Given the description of an element on the screen output the (x, y) to click on. 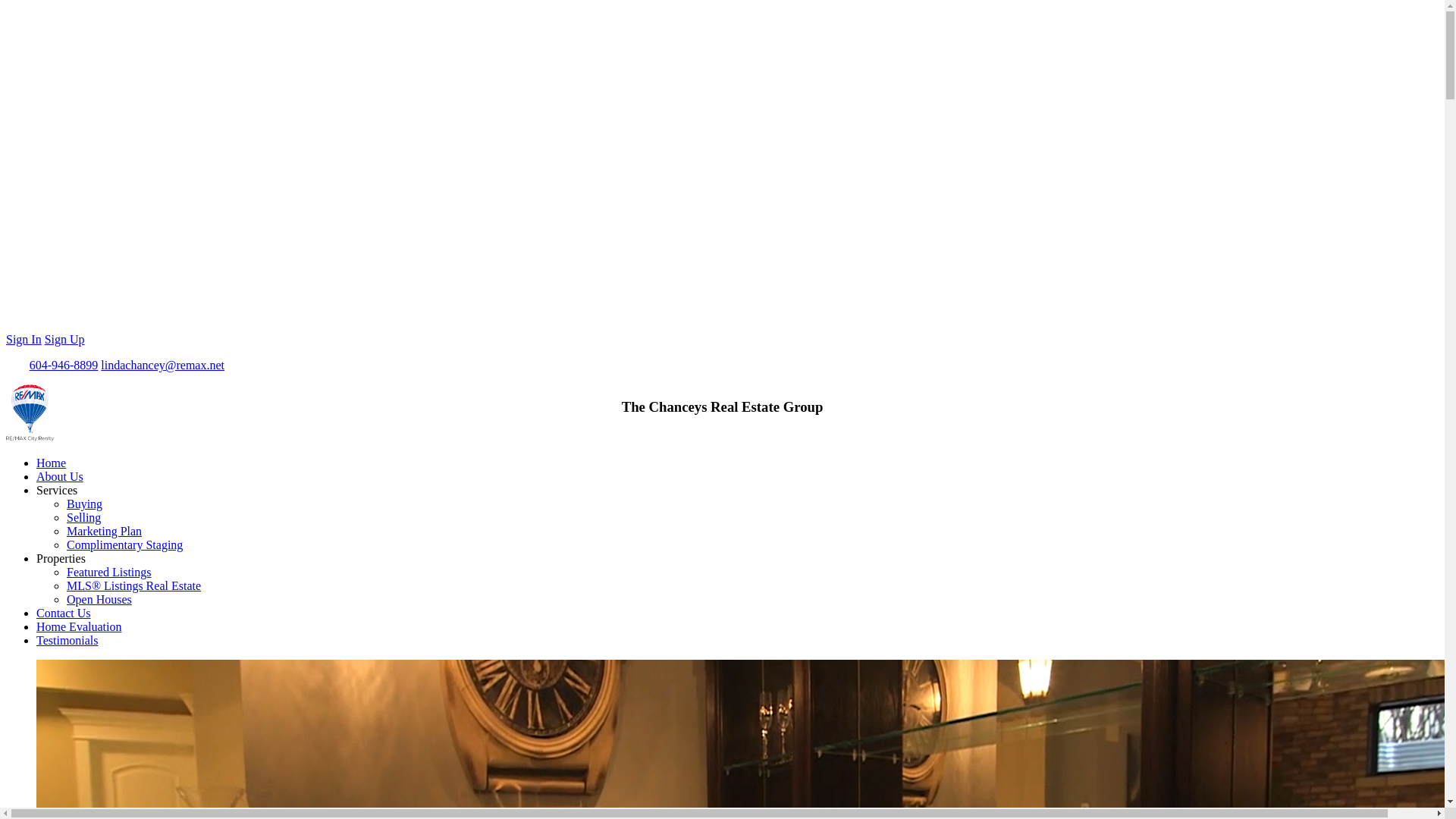
Sign Up (64, 338)
Featured Listings (108, 571)
Complimentary Staging (124, 544)
604-946-8899 (64, 364)
Sign In (23, 338)
Selling (83, 517)
Services (56, 490)
Properties (60, 558)
Home (50, 462)
Contact Us (63, 612)
